Given the description of an element on the screen output the (x, y) to click on. 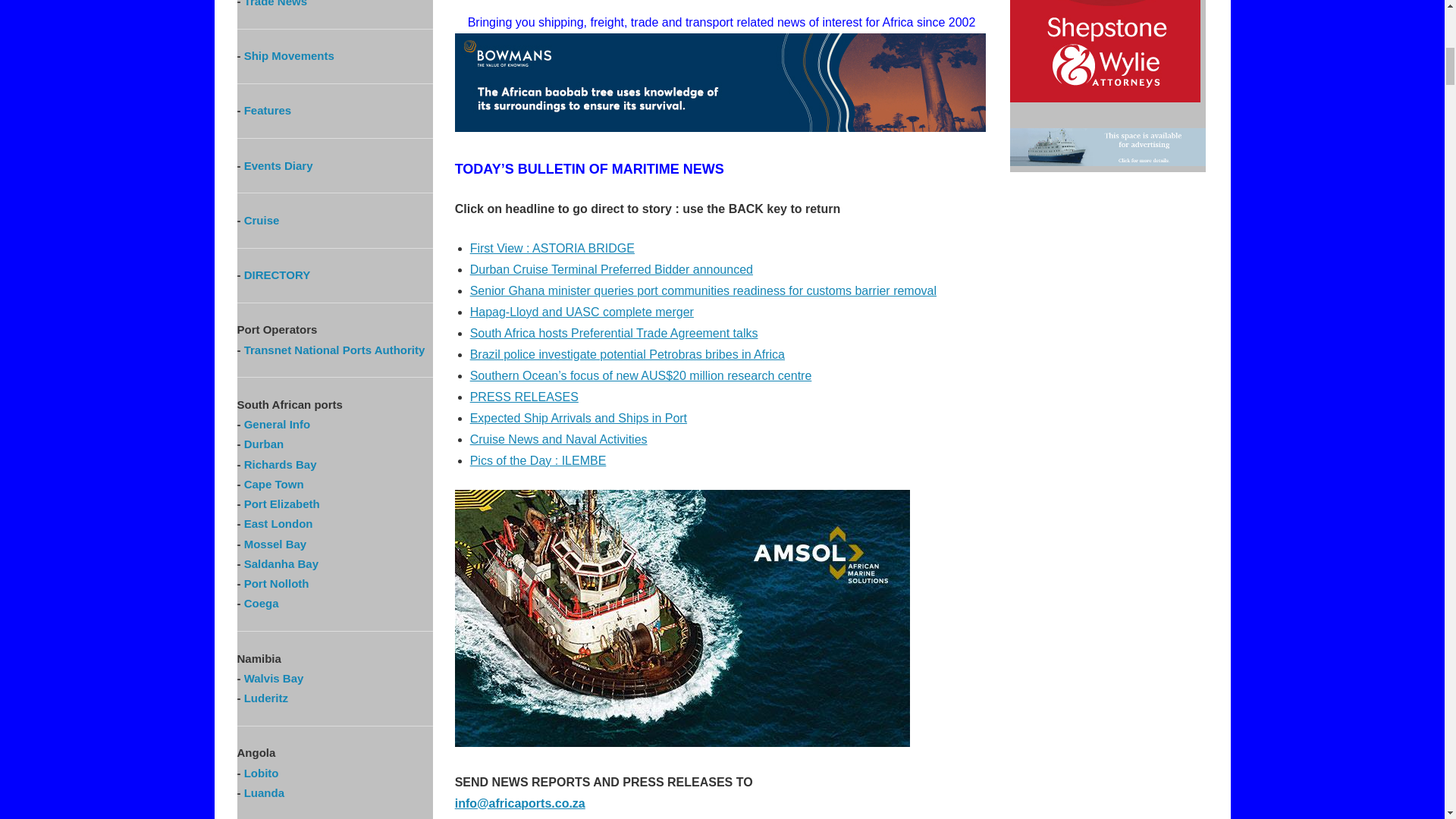
Cruise News and Naval Activities (558, 439)
Expected Ship Arrivals and Ships in Port (578, 418)
South Africa hosts Preferential Trade Agreement talks (614, 332)
Hapag-Lloyd and UASC complete merger (582, 311)
Durban Cruise Terminal Preferred Bidder announced (611, 269)
PRESS RELEASES (524, 396)
Pics of the Day : ILEMBE (538, 460)
First View : ASTORIA BRIDGE (552, 247)
